Given the description of an element on the screen output the (x, y) to click on. 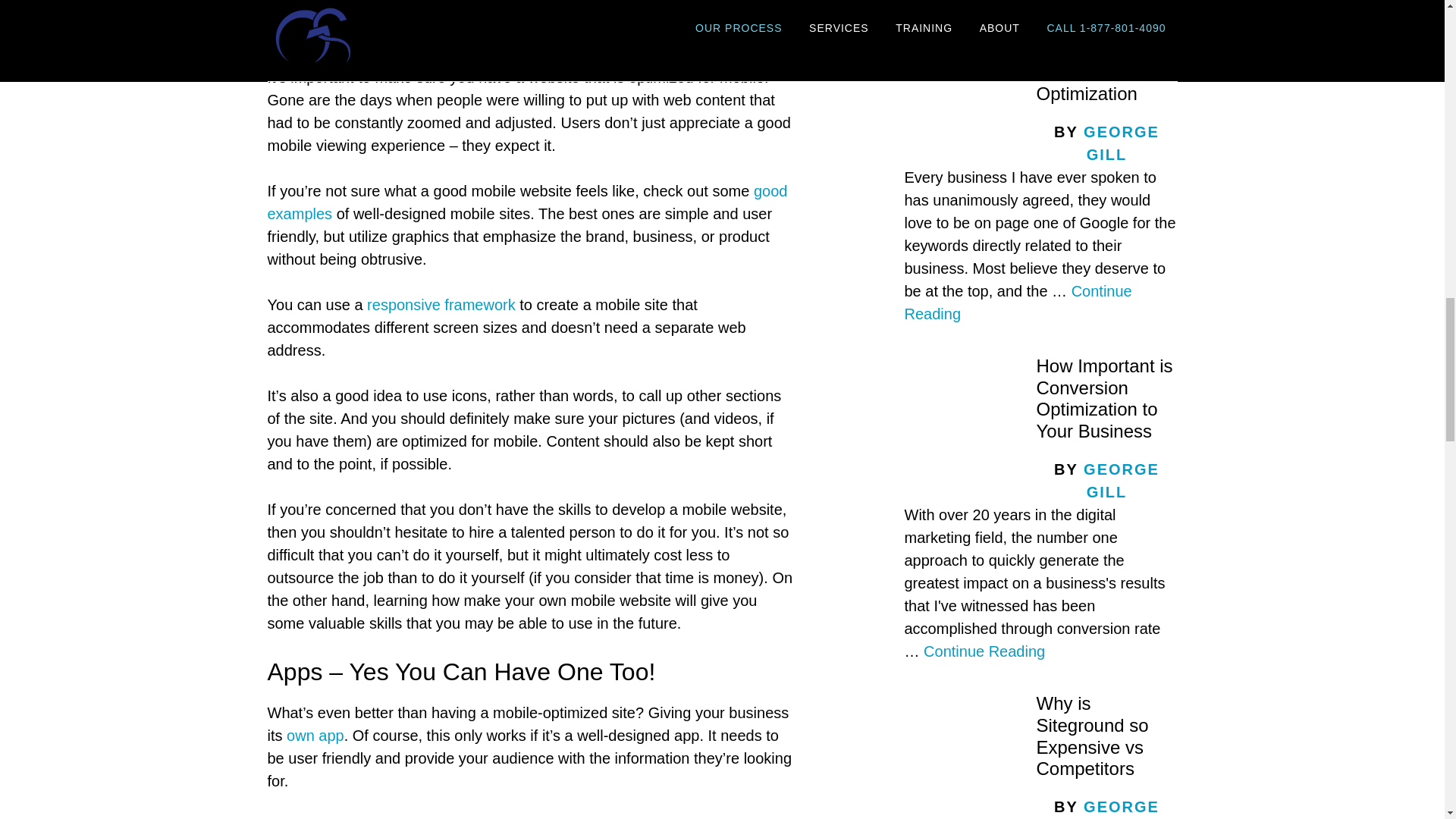
own app (314, 735)
good examples (526, 201)
responsive framework (440, 304)
